Given the description of an element on the screen output the (x, y) to click on. 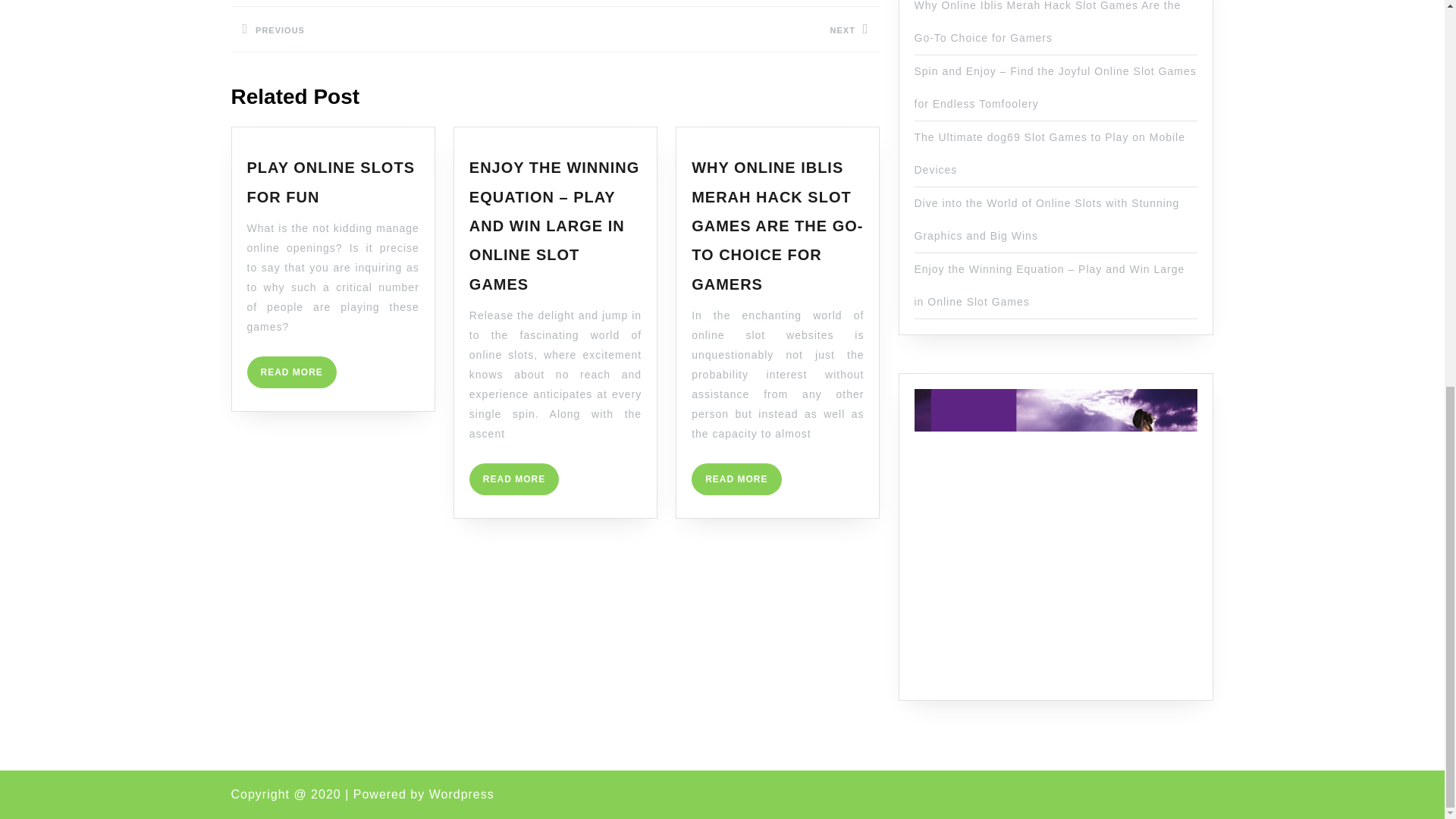
Play Online Slots for Fun (735, 479)
The Ultimate dog69 Slot Games to Play on Mobile Devices (716, 40)
